Given the description of an element on the screen output the (x, y) to click on. 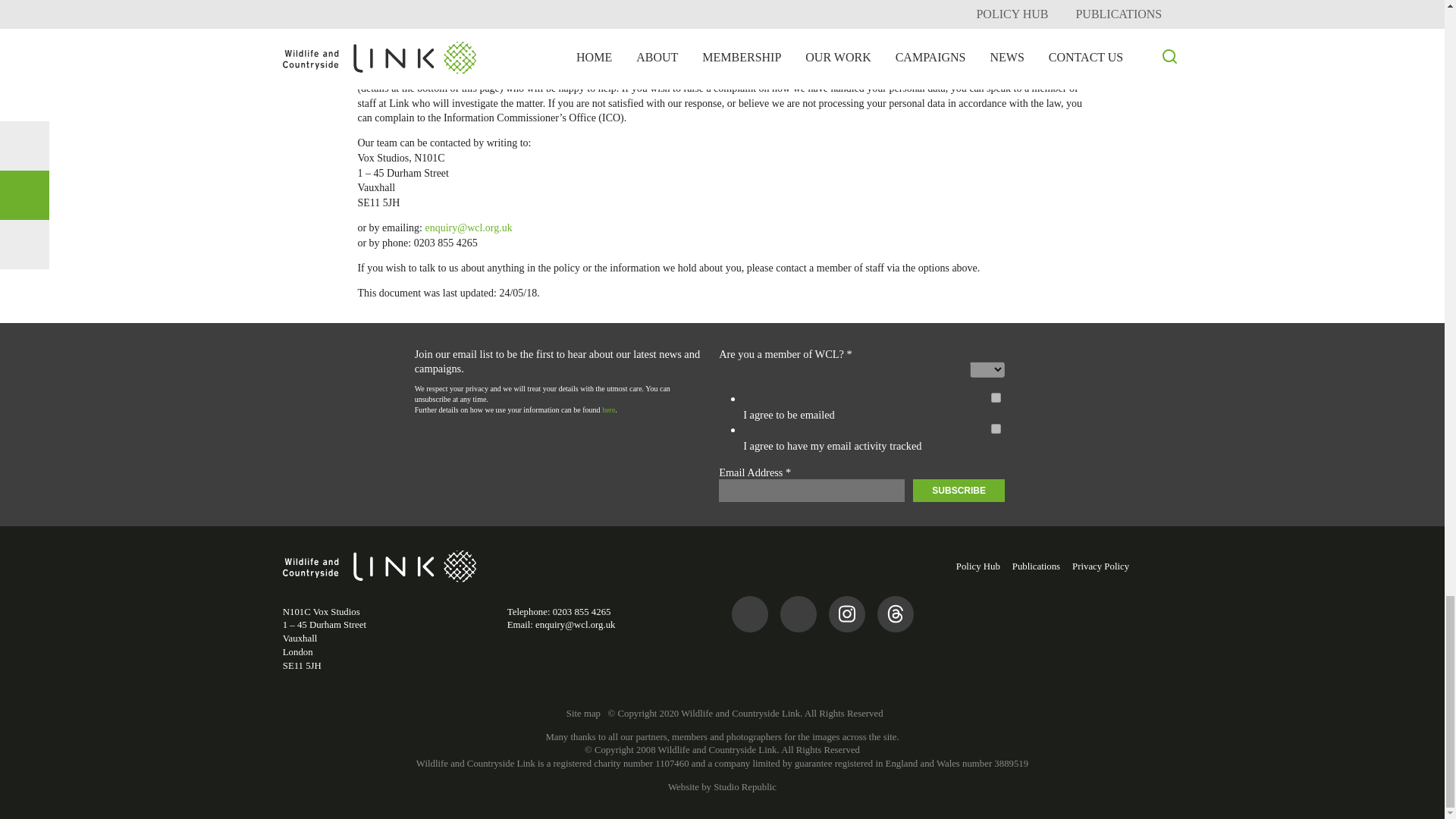
Subscribe (958, 490)
2 (996, 429)
1 (996, 397)
